Given the description of an element on the screen output the (x, y) to click on. 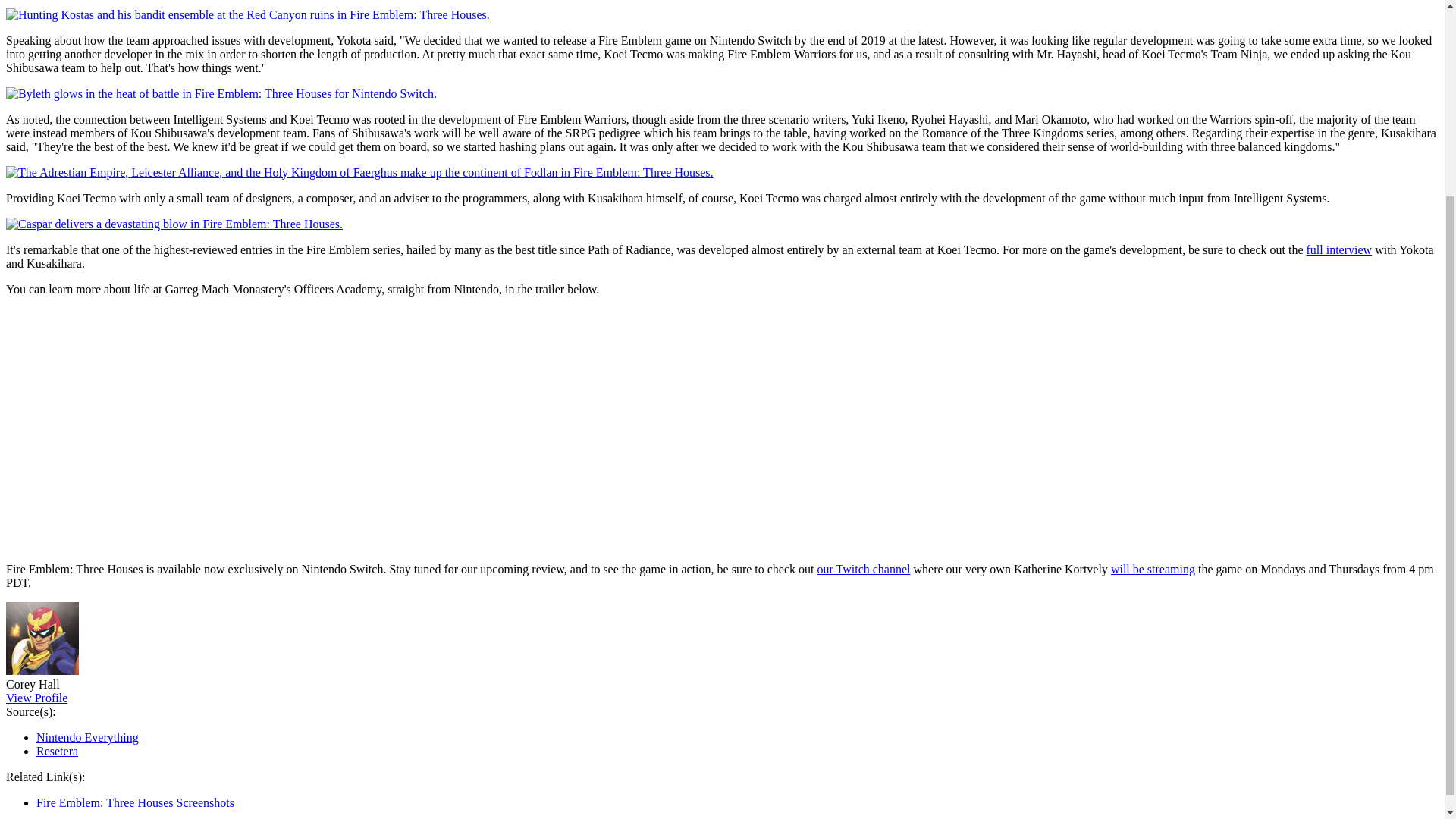
View Profile (35, 697)
full interview (1338, 249)
will be streaming (1152, 568)
Nintendo Everything (87, 737)
Fire Emblem: Three Houses Screenshots (135, 802)
our Twitch channel (863, 568)
Resetera (57, 750)
